Given the description of an element on the screen output the (x, y) to click on. 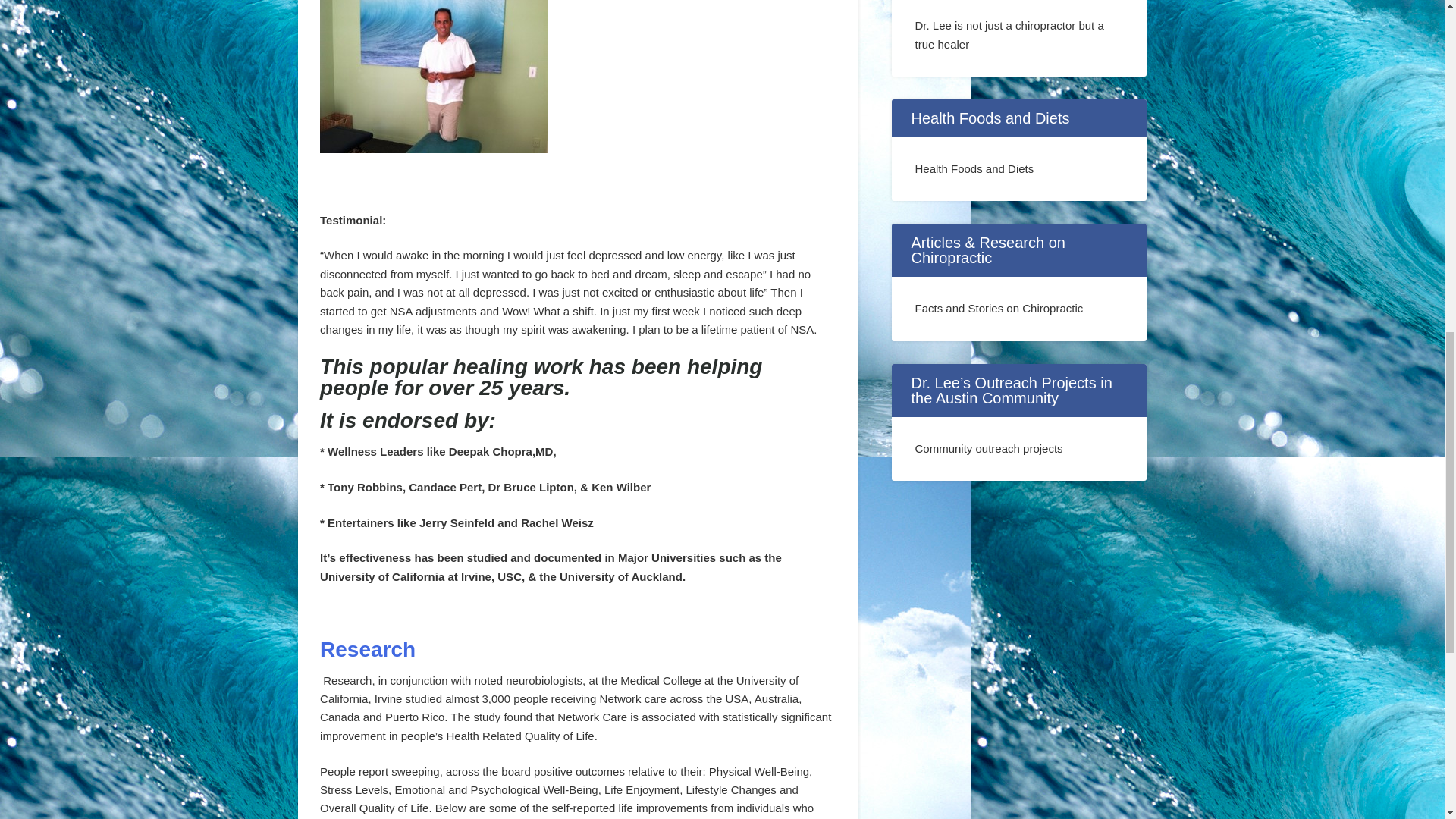
Research (367, 649)
jim standing in office (433, 76)
